Given the description of an element on the screen output the (x, y) to click on. 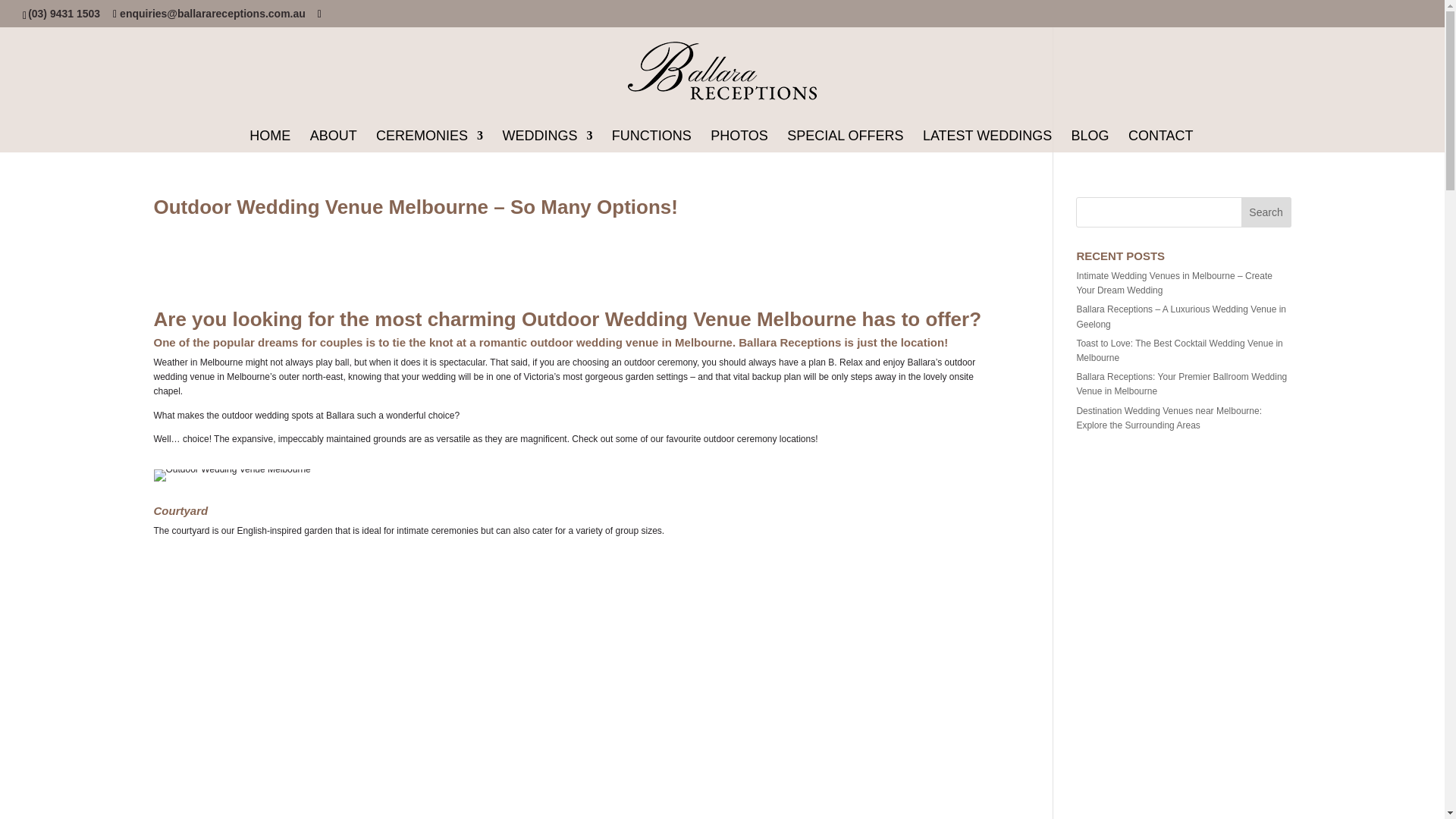
LATEST WEDDINGS (987, 141)
PHOTOS (739, 141)
ABOUT (333, 141)
SPECIAL OFFERS (844, 141)
HOME (268, 141)
CEREMONIES (429, 141)
BLOG (1090, 141)
Search (1266, 212)
CONTACT (1160, 141)
